Given the description of an element on the screen output the (x, y) to click on. 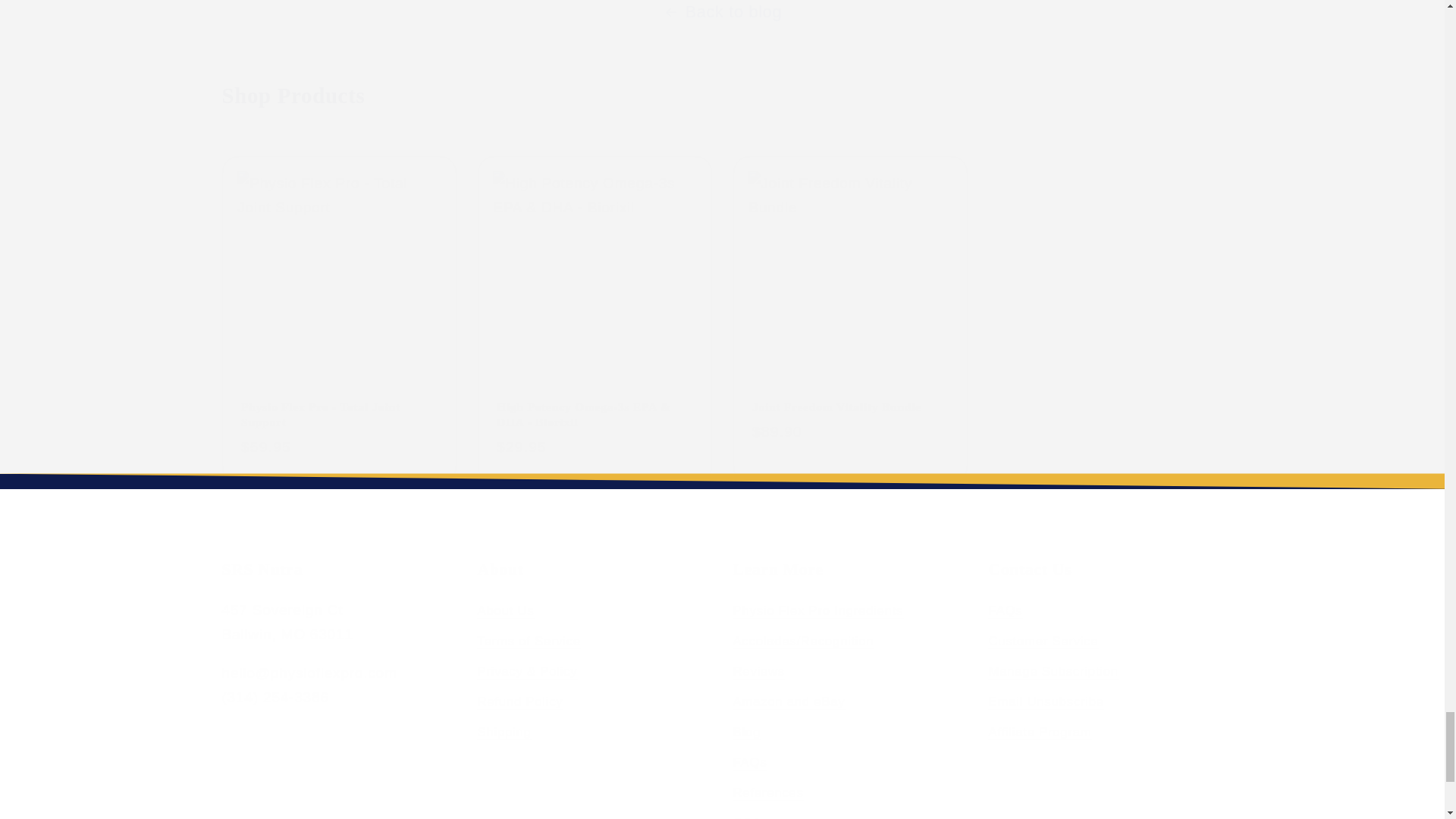
Shop Products (722, 95)
